Given the description of an element on the screen output the (x, y) to click on. 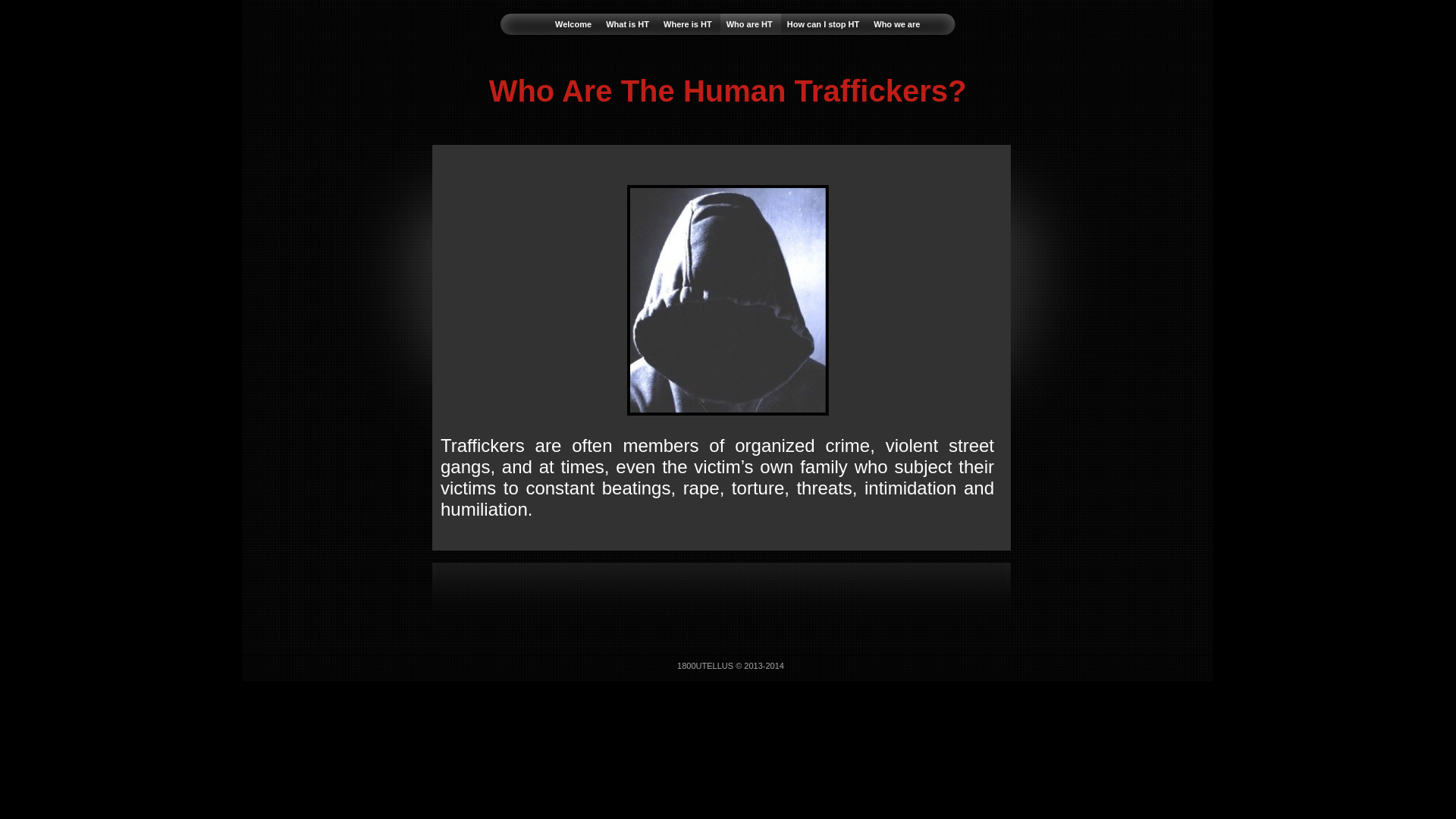
How can I stop HT Element type: text (824, 23)
Who we are Element type: text (896, 23)
What is HT Element type: text (628, 23)
Where is HT Element type: text (688, 23)
Who are HT Element type: text (750, 23)
Welcome Element type: text (574, 23)
